Given the description of an element on the screen output the (x, y) to click on. 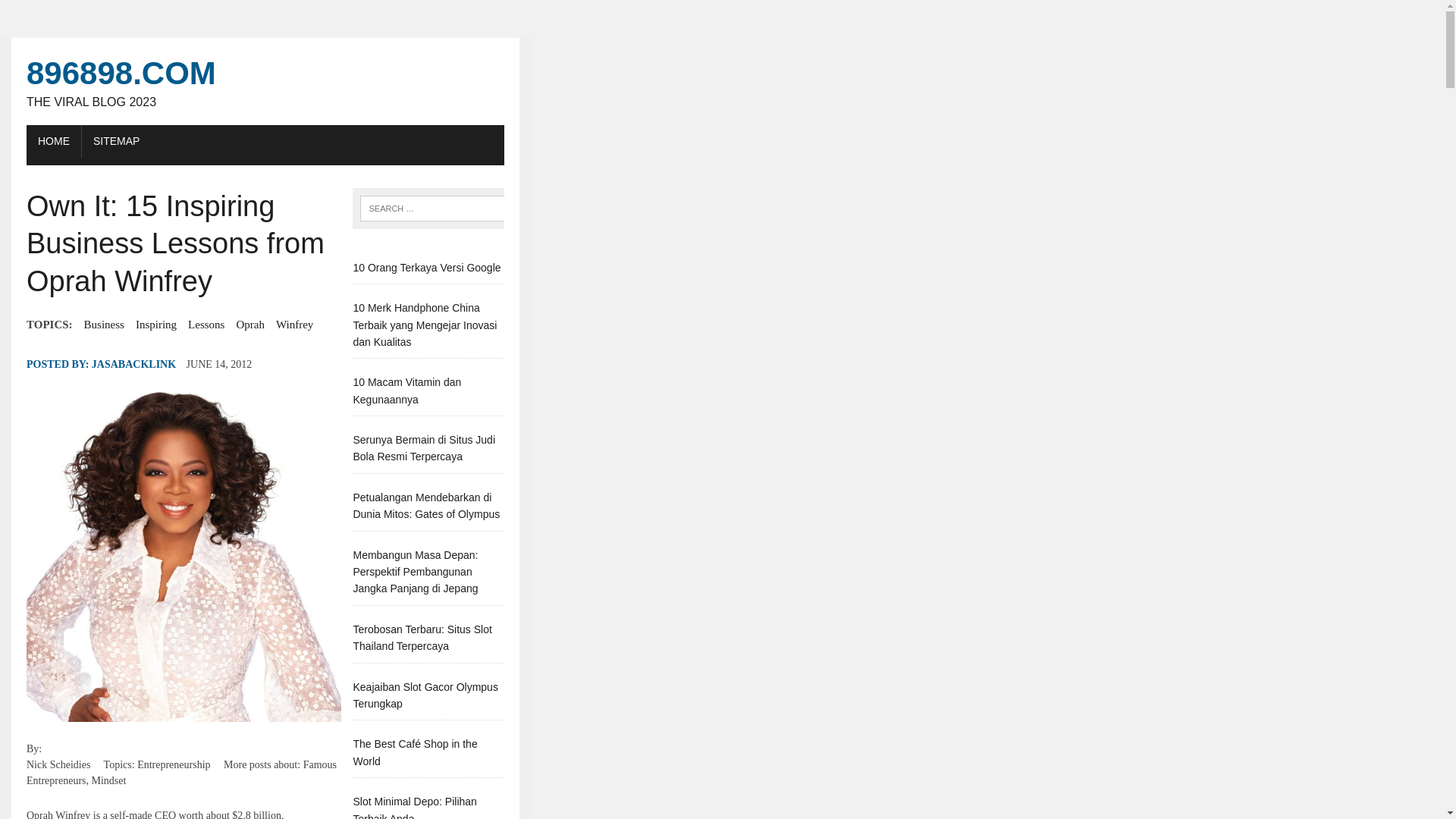
JASABACKLINK (264, 81)
Own It: 15 Inspiring Business Lessons from Oprah Winfrey (133, 364)
Serunya Bermain di Situs Judi Bola Resmi Terpercaya (183, 554)
Search (423, 448)
SITEMAP (75, 14)
Oprah (116, 141)
Petualangan Mendebarkan di Dunia Mitos: Gates of Olympus (249, 324)
10 Macam Vitamin dan Kegunaannya (425, 505)
10 Macam Vitamin dan Kegunaannya (406, 389)
Winfrey (406, 389)
10 Orang Terkaya Versi Google (294, 324)
Terobosan Terbaru: Situs Slot Thailand Terpercaya (426, 267)
